Given the description of an element on the screen output the (x, y) to click on. 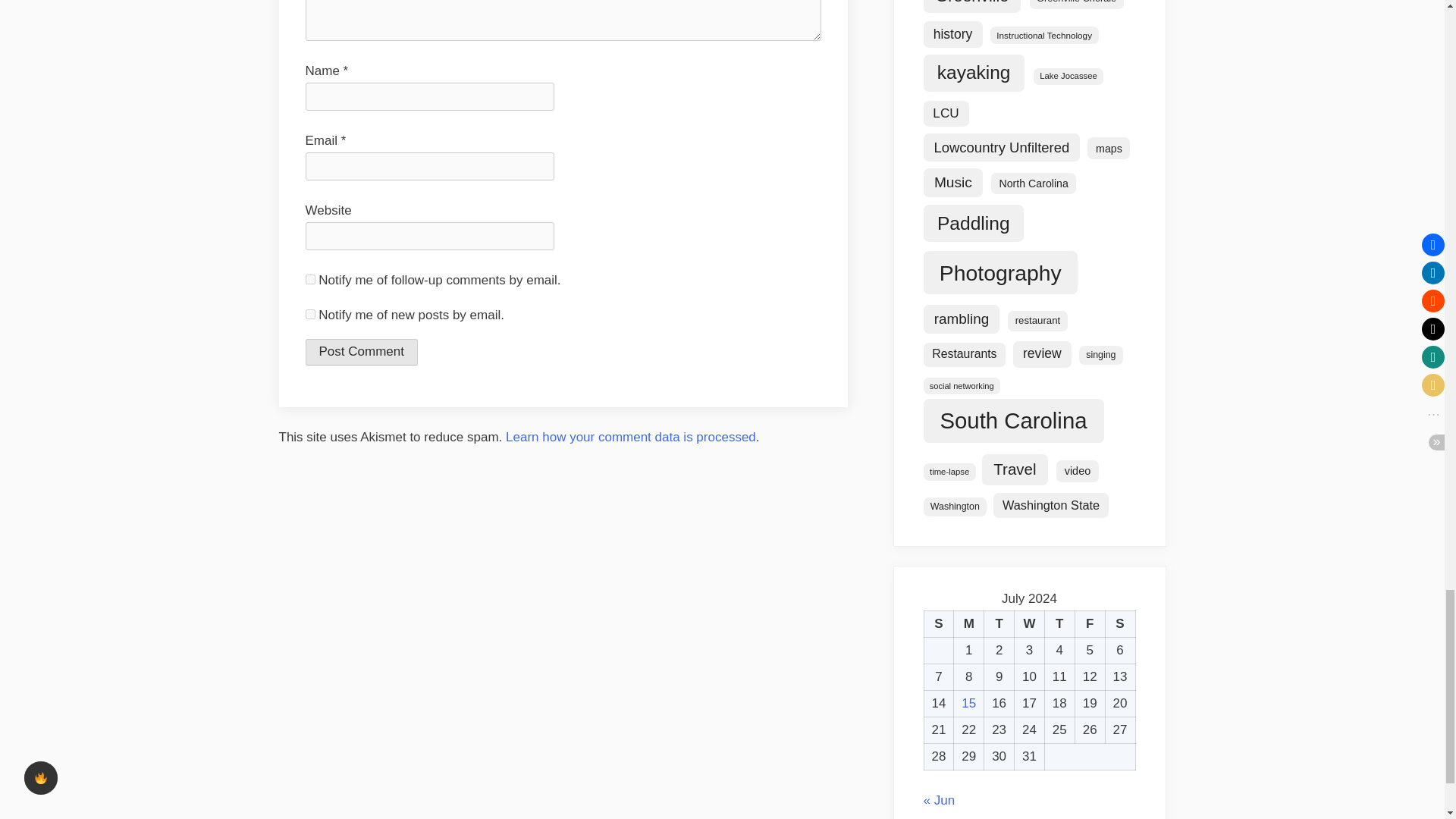
Tuesday (999, 624)
Monday (968, 624)
subscribe (309, 279)
Wednesday (1029, 624)
Thursday (1058, 624)
Post Comment (360, 351)
Post Comment (360, 351)
subscribe (309, 314)
Learn how your comment data is processed (630, 436)
Sunday (938, 624)
